Given the description of an element on the screen output the (x, y) to click on. 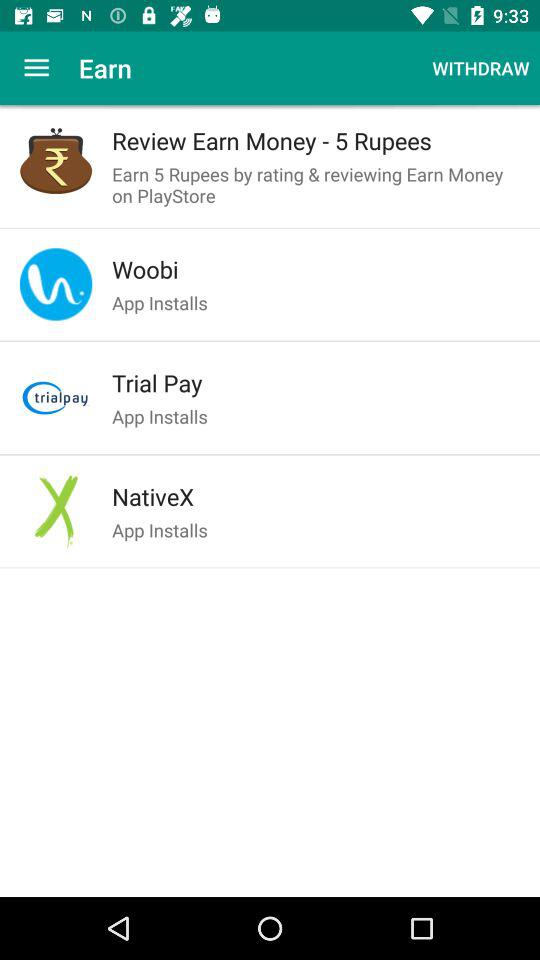
click the item above the app installs item (316, 269)
